Given the description of an element on the screen output the (x, y) to click on. 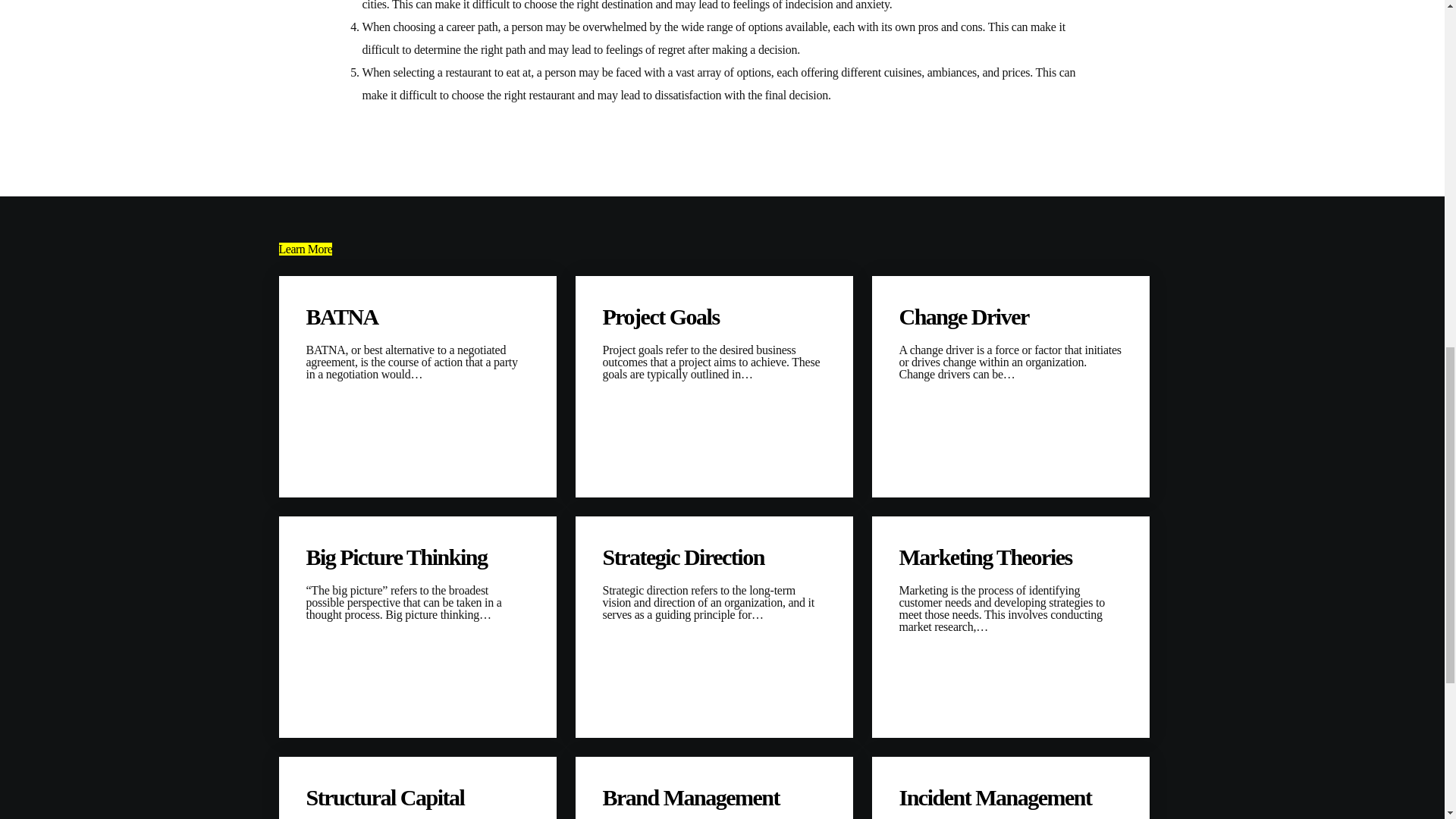
Change Driver (1010, 316)
Structural Capital (417, 797)
Strategic Direction (713, 556)
Big Picture Thinking (417, 556)
Incident Management (1010, 797)
Brand Management (713, 797)
Project Goals (713, 316)
BATNA (417, 316)
Marketing Theories (1010, 556)
